Given the description of an element on the screen output the (x, y) to click on. 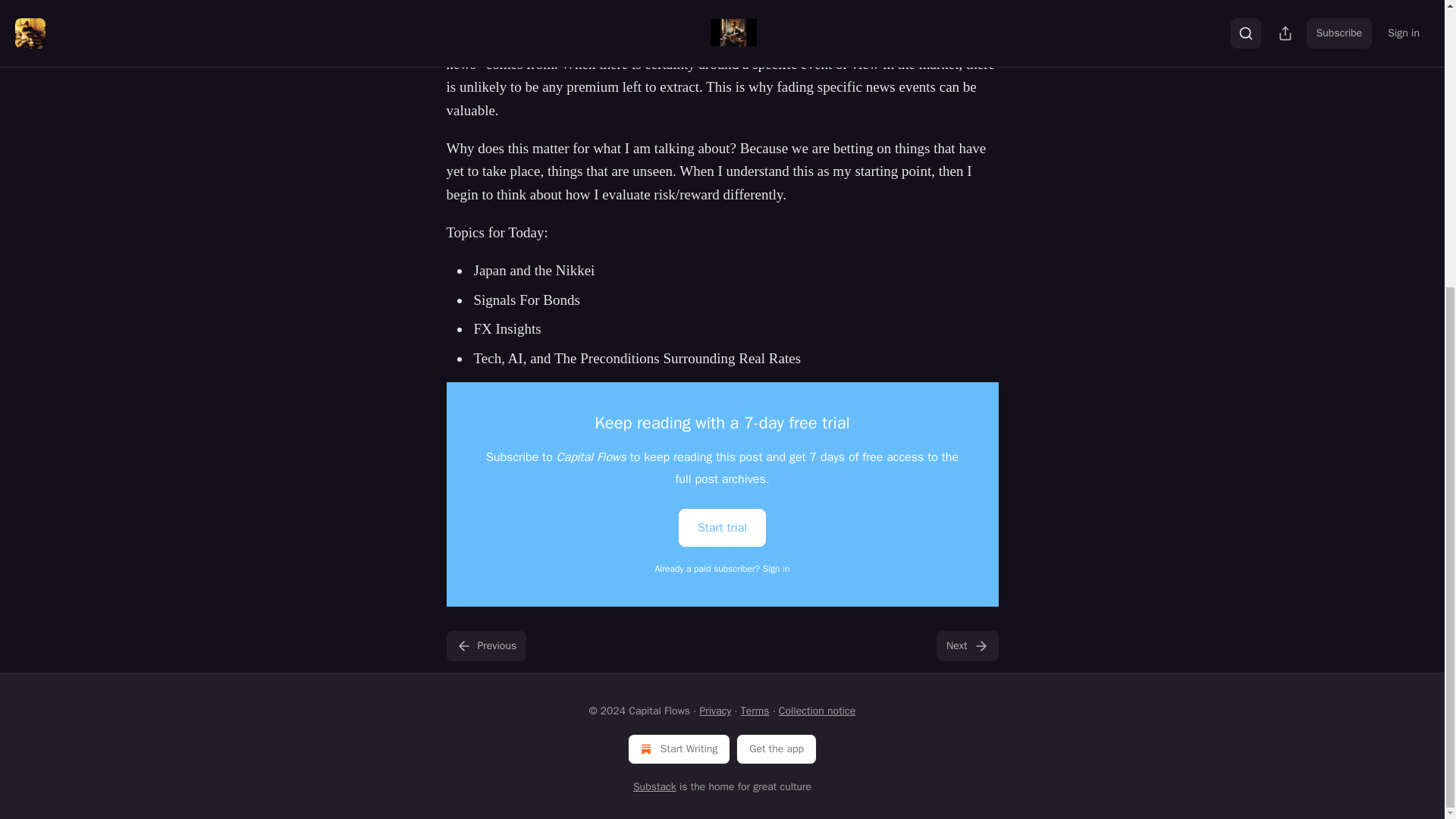
Start Writing (678, 748)
Get the app (776, 748)
Start trial (721, 527)
Already a paid subscriber? Sign in (722, 568)
Next (966, 645)
Substack (655, 786)
Start trial (721, 526)
Terms (755, 710)
Previous (485, 645)
Collection notice (817, 710)
Privacy (714, 710)
